Given the description of an element on the screen output the (x, y) to click on. 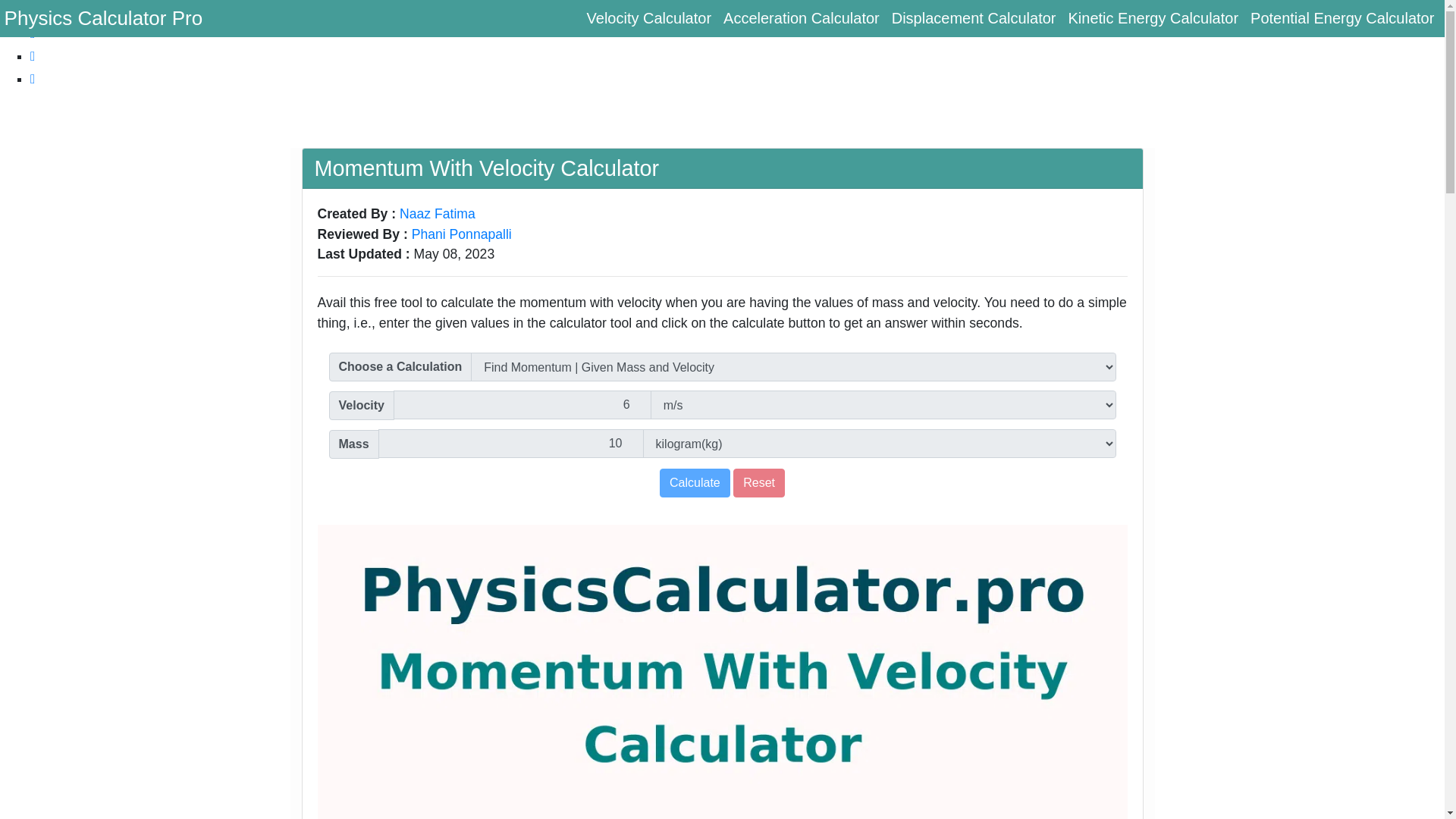
Physics Calculator Pro (103, 18)
Velocity Calculator (648, 18)
Acceleration Calculator (801, 18)
Reset (758, 482)
Phani Ponnapalli (462, 233)
Potential Energy Calculator (1341, 18)
Naaz Fatima (437, 213)
Kinetic Energy Calculator (1152, 18)
10 (510, 443)
Calculate (694, 482)
